Given the description of an element on the screen output the (x, y) to click on. 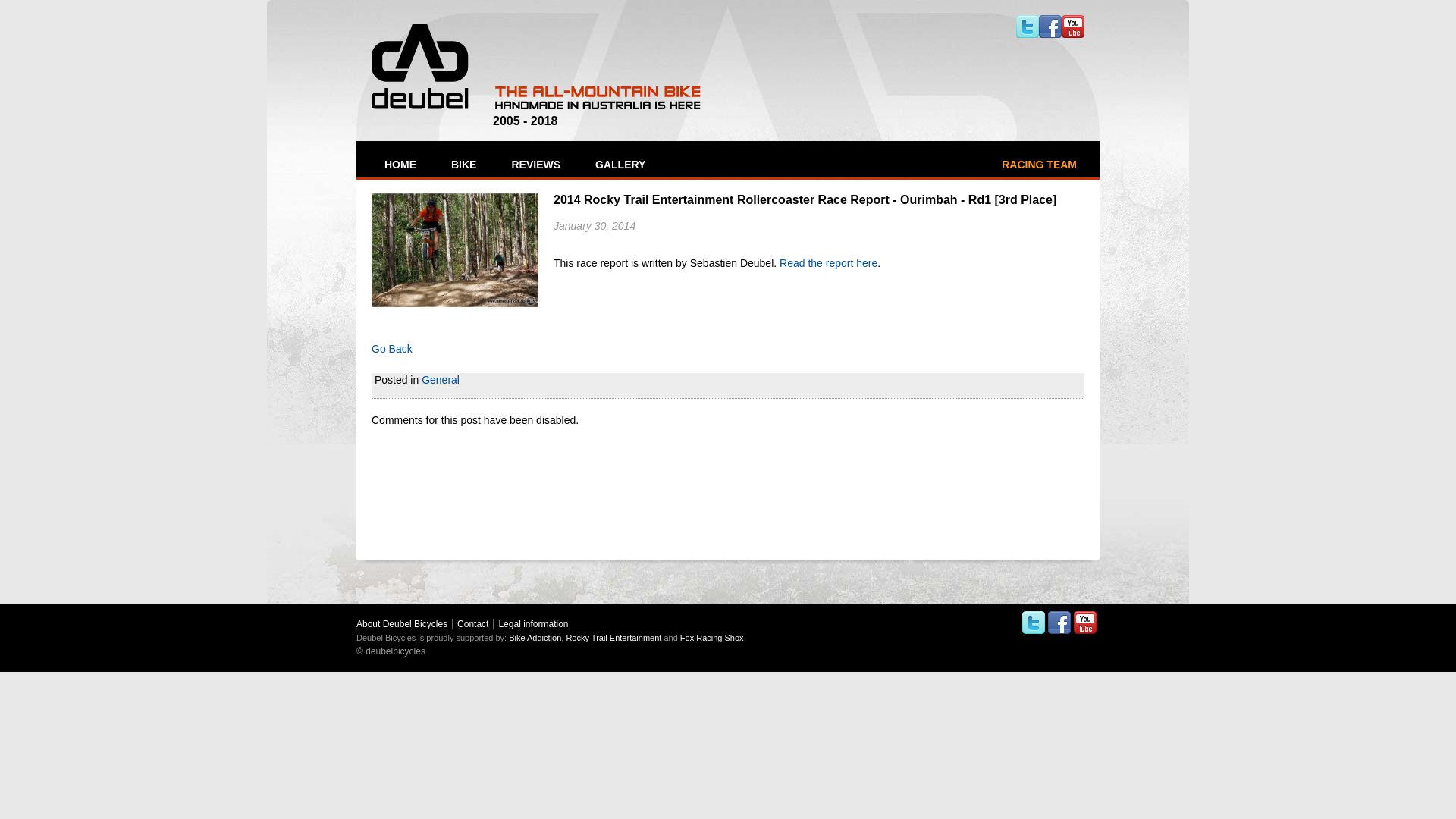
GALLERY Element type: text (618, 164)
REVIEWS Element type: text (534, 164)
Facebook Element type: text (1059, 622)
About Deubel Bicycles Element type: text (401, 623)
YouTube Element type: text (1072, 26)
Twitter Element type: text (1033, 622)
Fox Racing Shox Element type: text (711, 637)
Legal information Element type: text (532, 623)
Bike Addiction Element type: text (534, 637)
Contact Element type: text (472, 623)
RACING TEAM Element type: text (1038, 164)
Rocky Trail Entertainment Element type: text (613, 637)
YouTube Element type: text (1084, 622)
Read the report here Element type: text (828, 263)
Twitter Element type: text (1027, 26)
BIKE Element type: text (462, 164)
General Element type: text (440, 379)
Facebook Element type: text (1049, 26)
HOME Element type: text (398, 164)
Go Back Element type: text (391, 348)
